Given the description of an element on the screen output the (x, y) to click on. 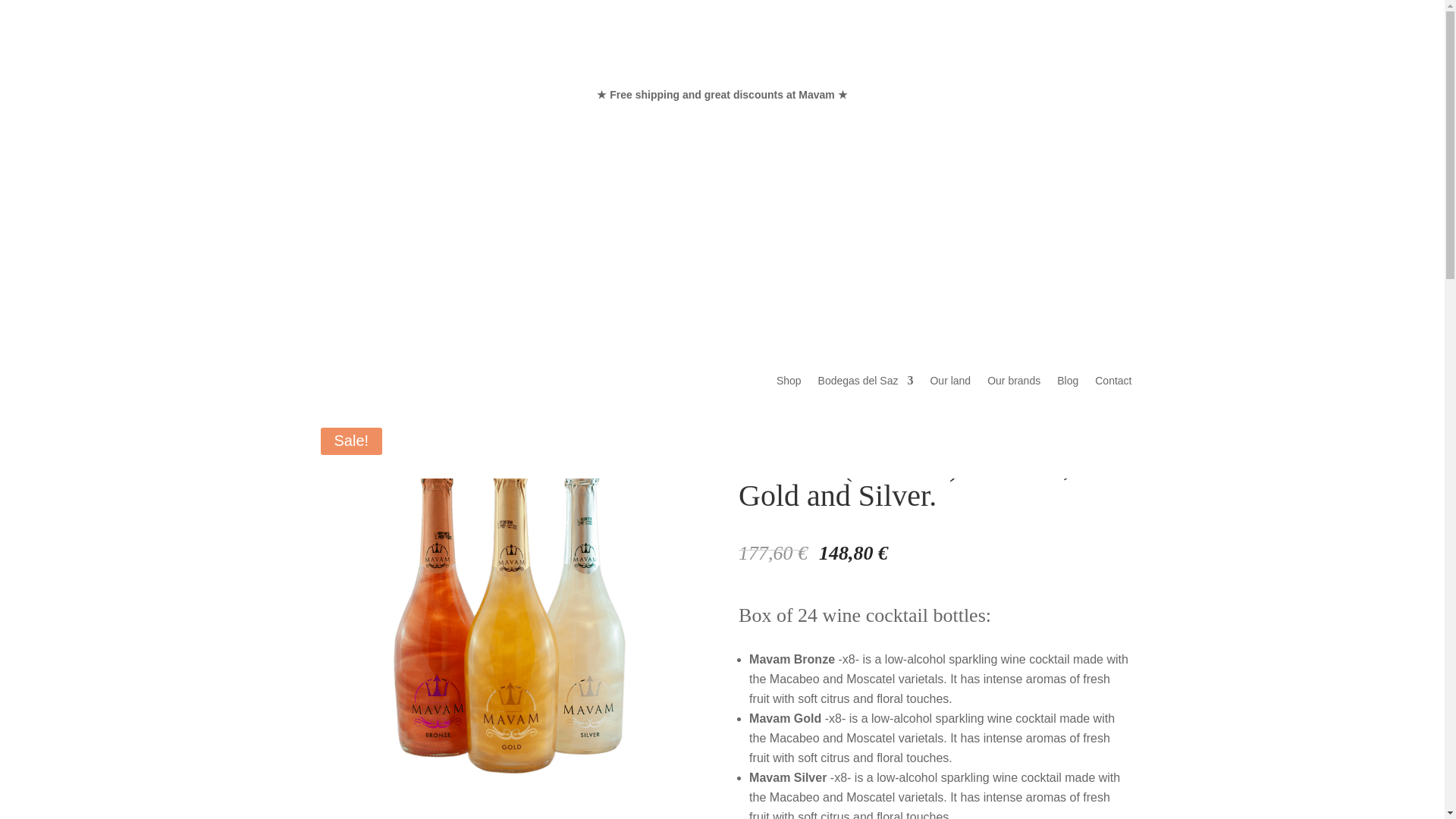
Our land (950, 383)
Our brands (1014, 383)
Shop (789, 383)
Bodegas del Saz (866, 156)
Follow on Facebook (324, 98)
Varietal (363, 400)
MACABEO (411, 400)
logotipo (464, 237)
Follow on Instagram (384, 98)
Follow on Youtube (415, 98)
